Given the description of an element on the screen output the (x, y) to click on. 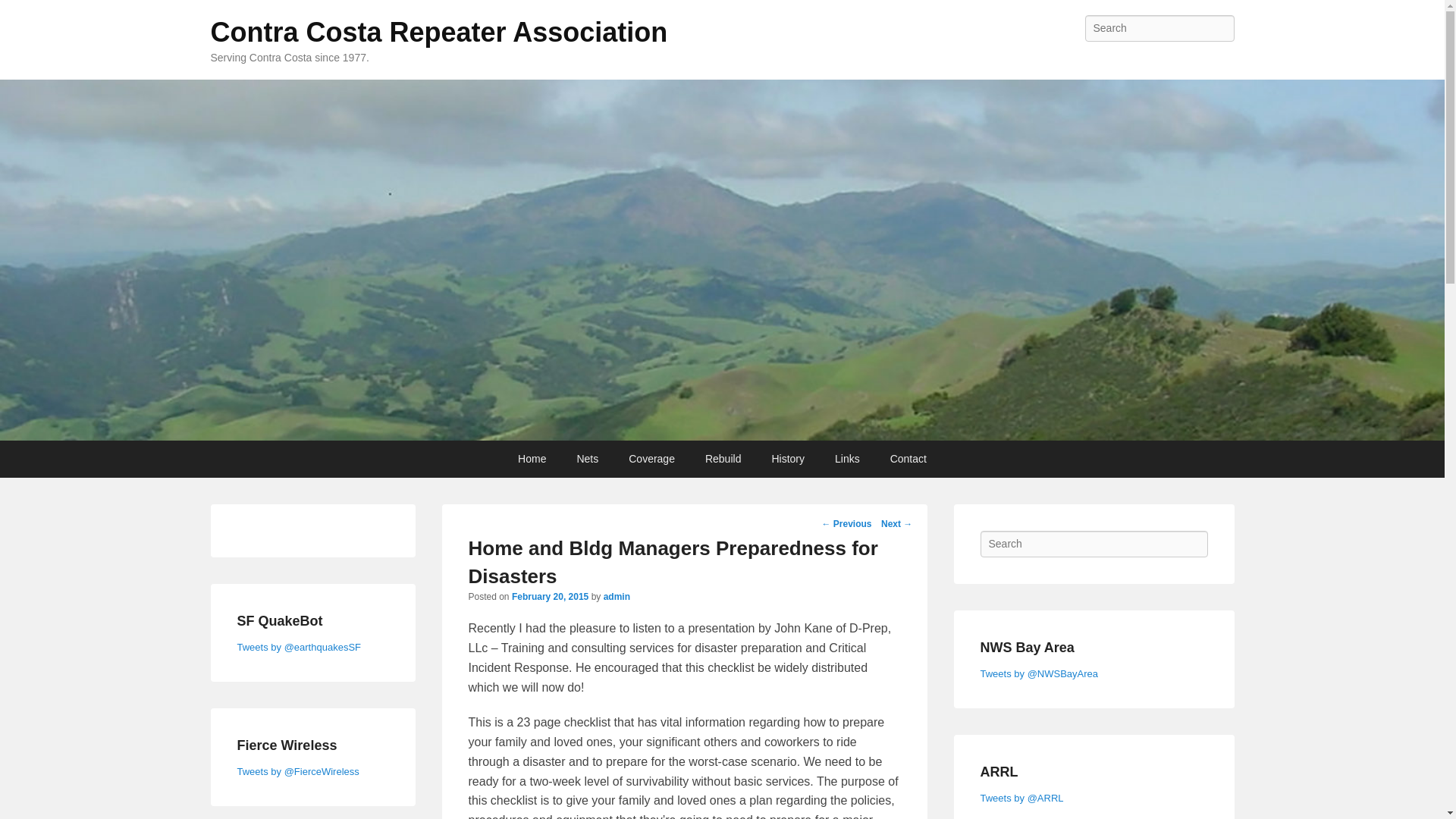
11:46 pm (550, 596)
Nets (586, 458)
Contra Costa Repeater Association (439, 31)
Contra Costa Repeater Association (439, 31)
View all posts by admin (617, 596)
Search (24, 14)
Home (531, 458)
Rebuild (722, 458)
History (787, 458)
Coverage (651, 458)
